Given the description of an element on the screen output the (x, y) to click on. 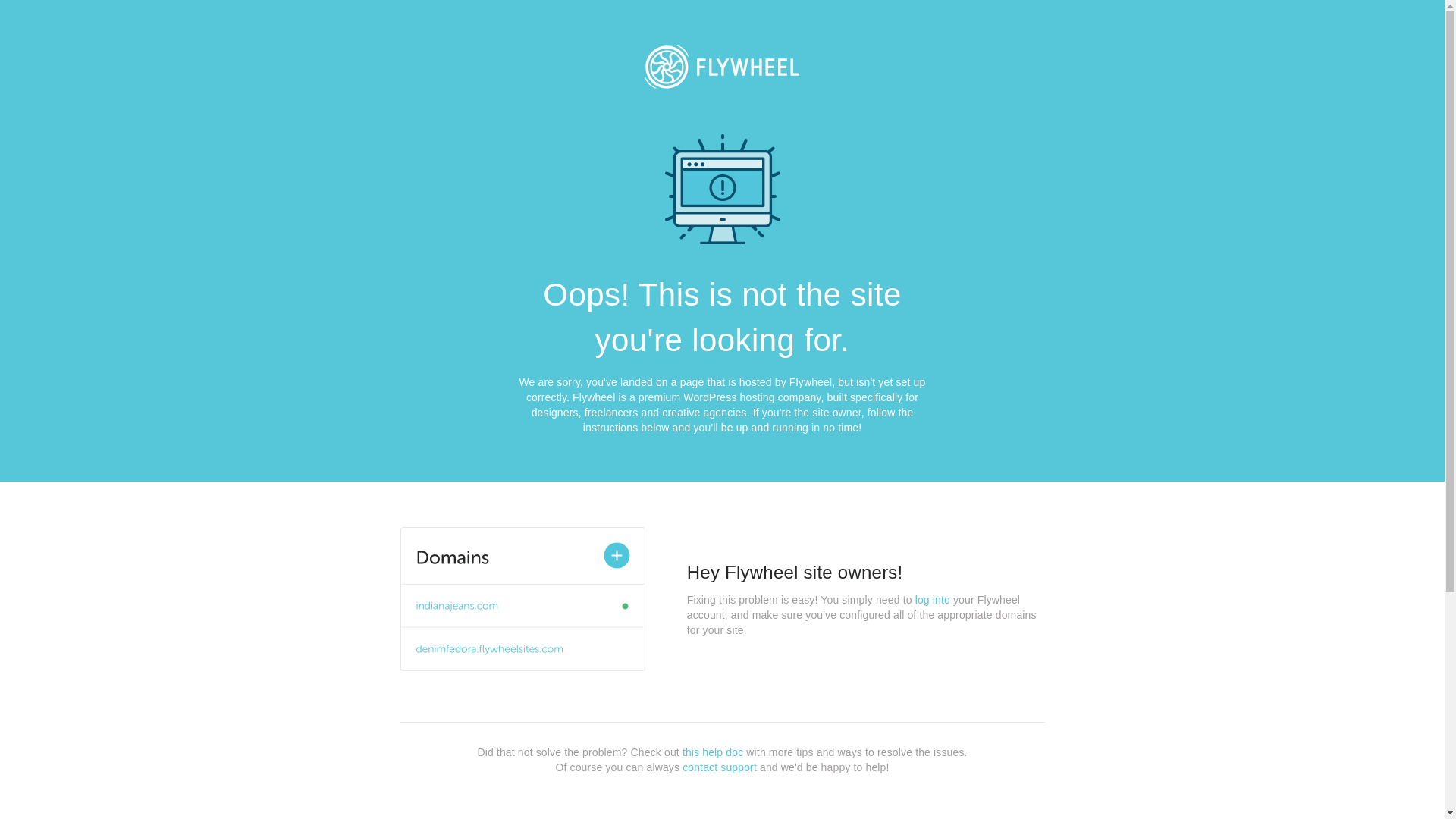
this help doc (712, 752)
log into (932, 599)
contact support (719, 767)
